Given the description of an element on the screen output the (x, y) to click on. 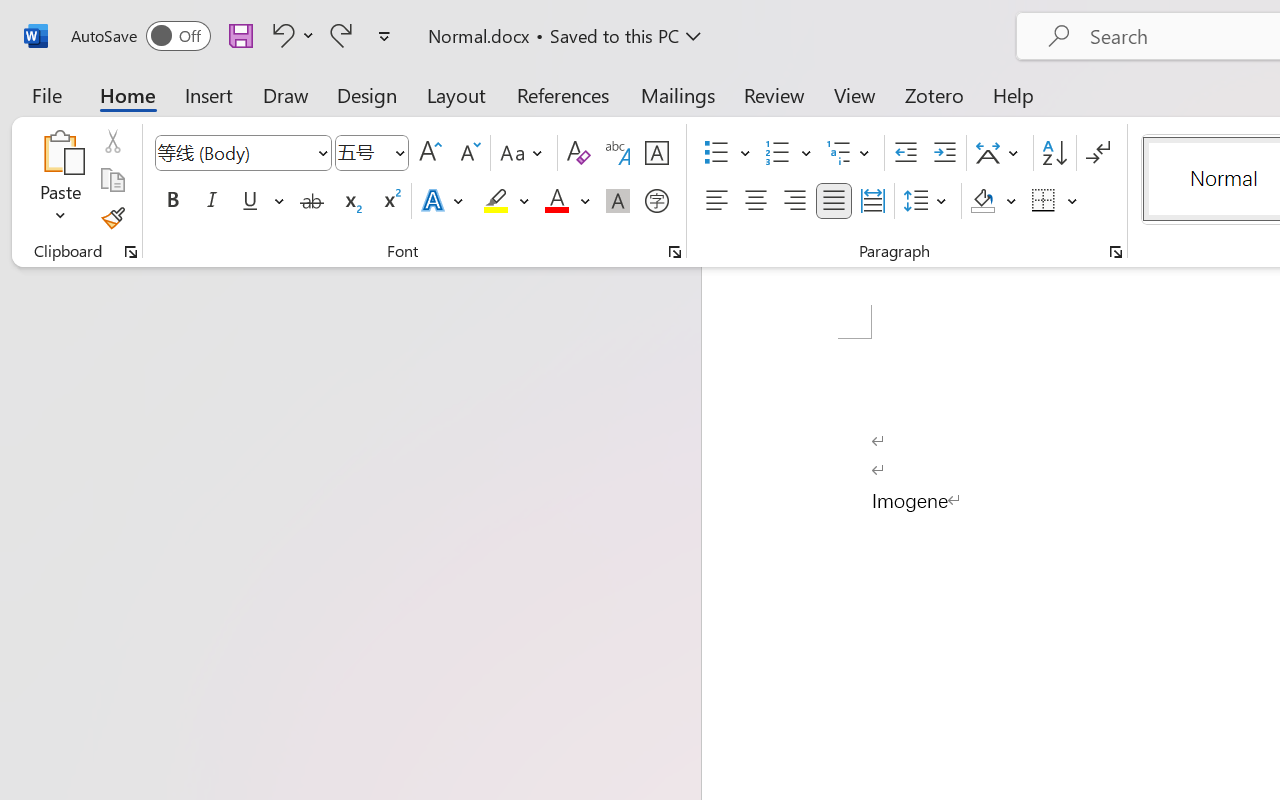
Open (399, 152)
Grow Font (430, 153)
Align Right (794, 201)
Change Case (524, 153)
Copy (112, 179)
Italic (212, 201)
Redo Style (341, 35)
